Given the description of an element on the screen output the (x, y) to click on. 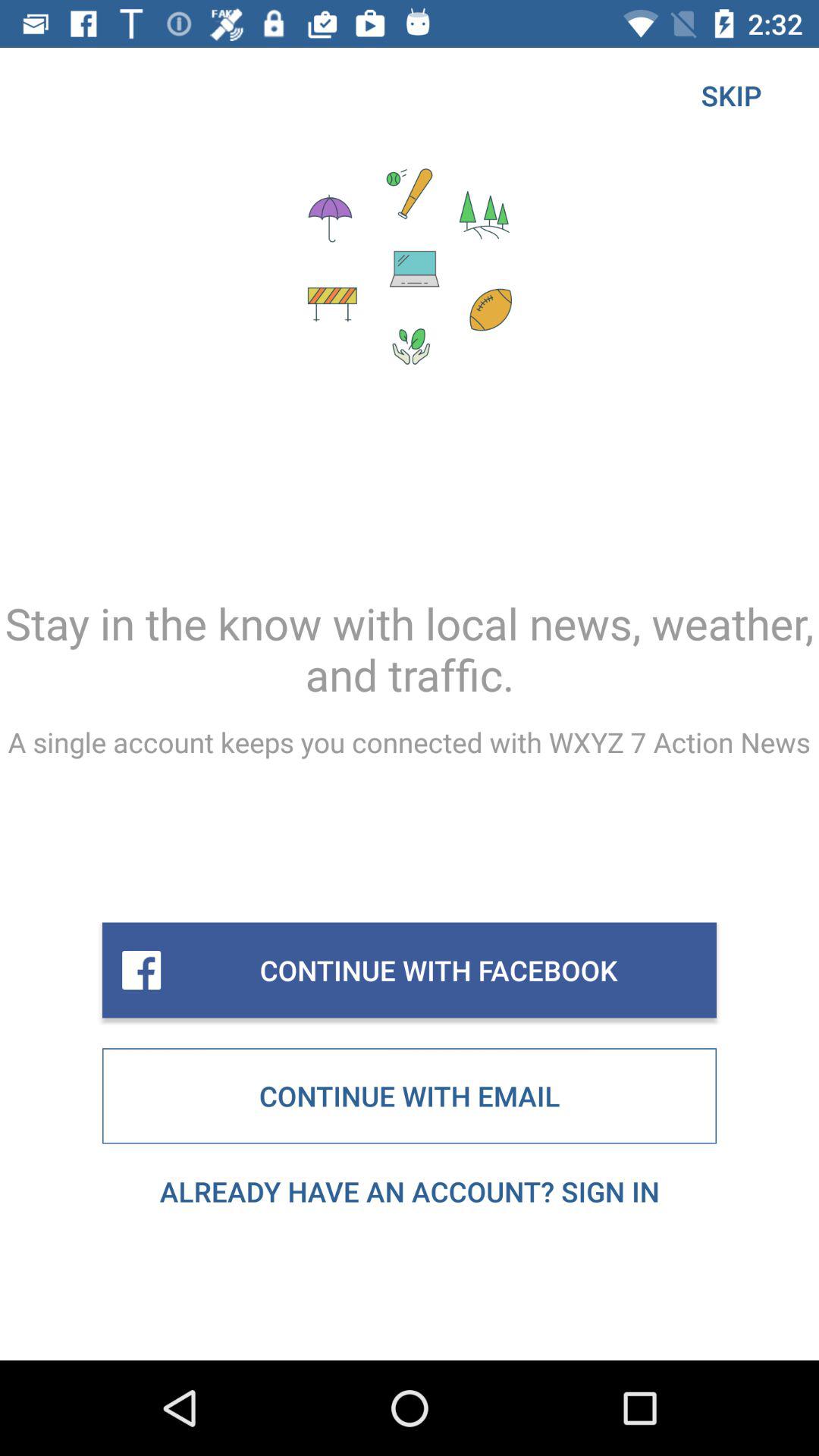
press the item above stay in the (731, 95)
